Given the description of an element on the screen output the (x, y) to click on. 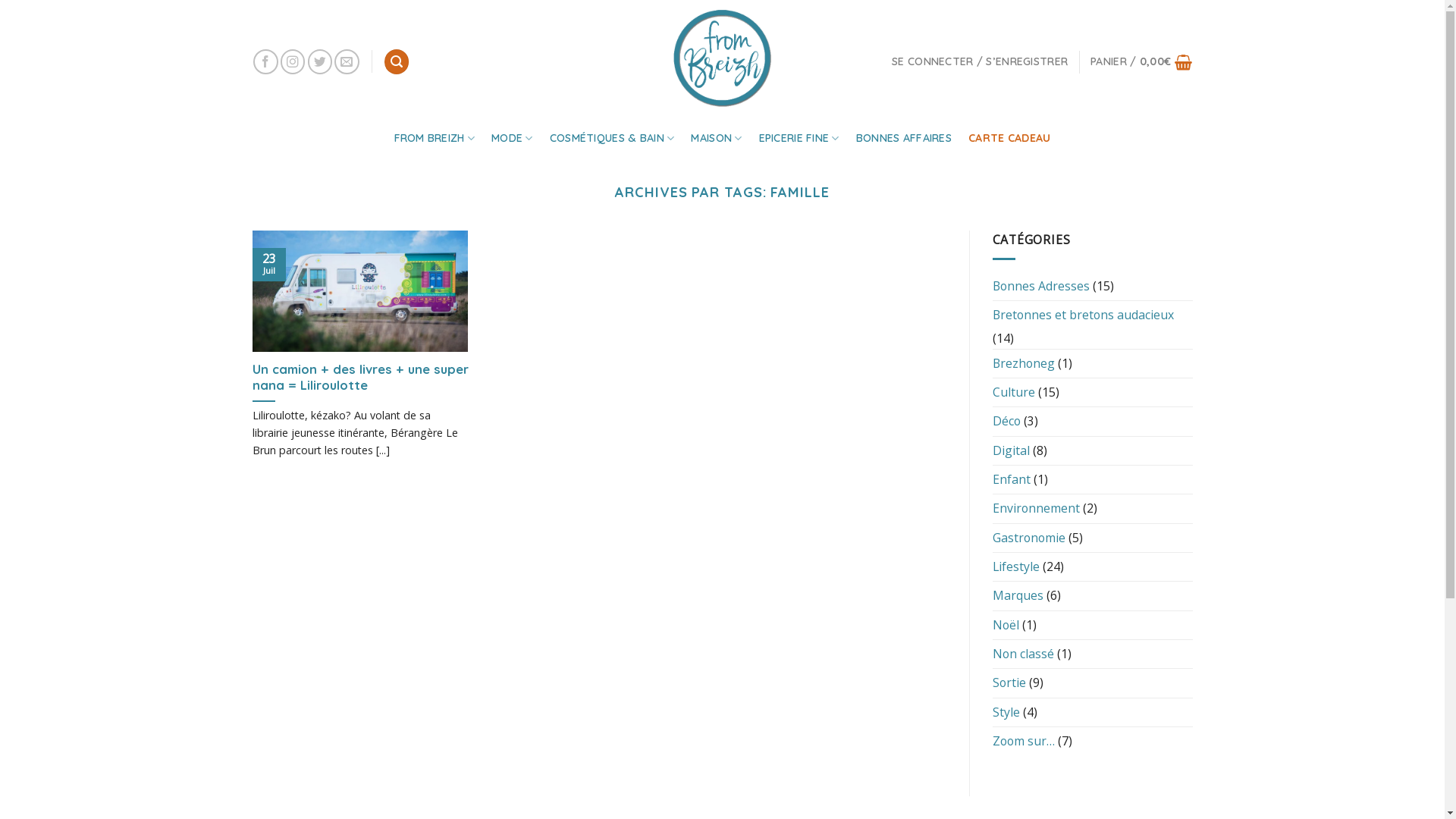
Nous envoyer un email Element type: hover (346, 61)
Lifestyle Element type: text (1014, 566)
Enfant Element type: text (1010, 479)
Un camion + des livres + une super nana = Liliroulotte Element type: text (359, 377)
CARTE CADEAU Element type: text (1009, 138)
Bonnes Adresses Element type: text (1039, 286)
Culture Element type: text (1012, 392)
Sortie Element type: text (1008, 682)
Nous suivre sur Twitter Element type: hover (319, 61)
Gastronomie Element type: text (1027, 538)
Brezhoneg Element type: text (1022, 363)
EPICERIE FINE Element type: text (799, 138)
Nous suivre sur Facebook Element type: hover (265, 61)
MAISON Element type: text (715, 138)
MODE Element type: text (512, 138)
Digital Element type: text (1010, 450)
Bretonnes et bretons audacieux Element type: text (1082, 315)
From Breizh - Les marques & les talents made in bretagne Element type: hover (721, 57)
FROM BREIZH Element type: text (434, 138)
BONNES AFFAIRES Element type: text (903, 138)
Environnement Element type: text (1035, 508)
Style Element type: text (1005, 712)
Nous suivre sur Instagram Element type: hover (292, 61)
Marques Element type: text (1016, 595)
